Given the description of an element on the screen output the (x, y) to click on. 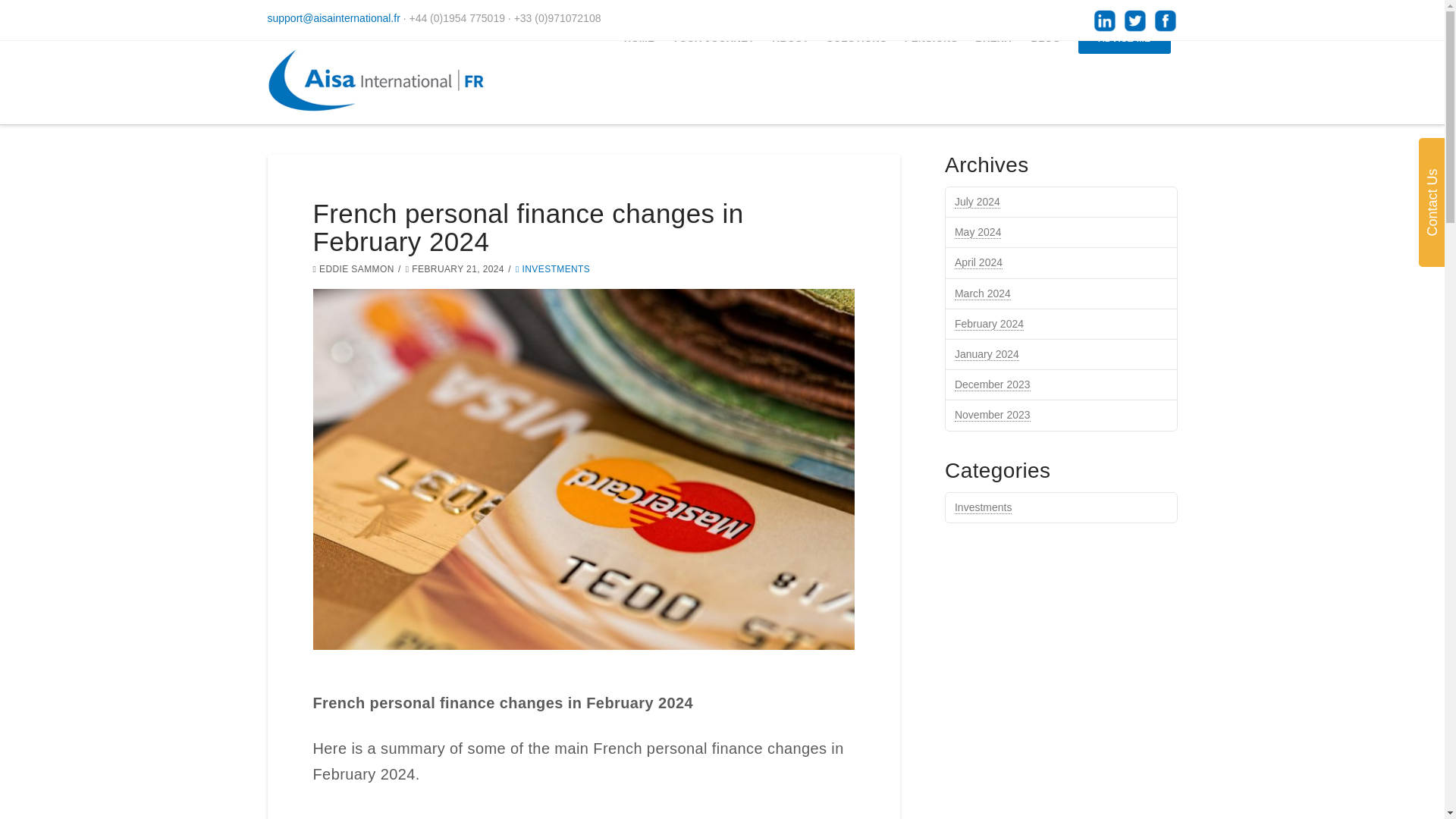
SOLUTIONS (854, 75)
ADVISE ME (1122, 75)
YOUR JOURNEY (711, 75)
